Given the description of an element on the screen output the (x, y) to click on. 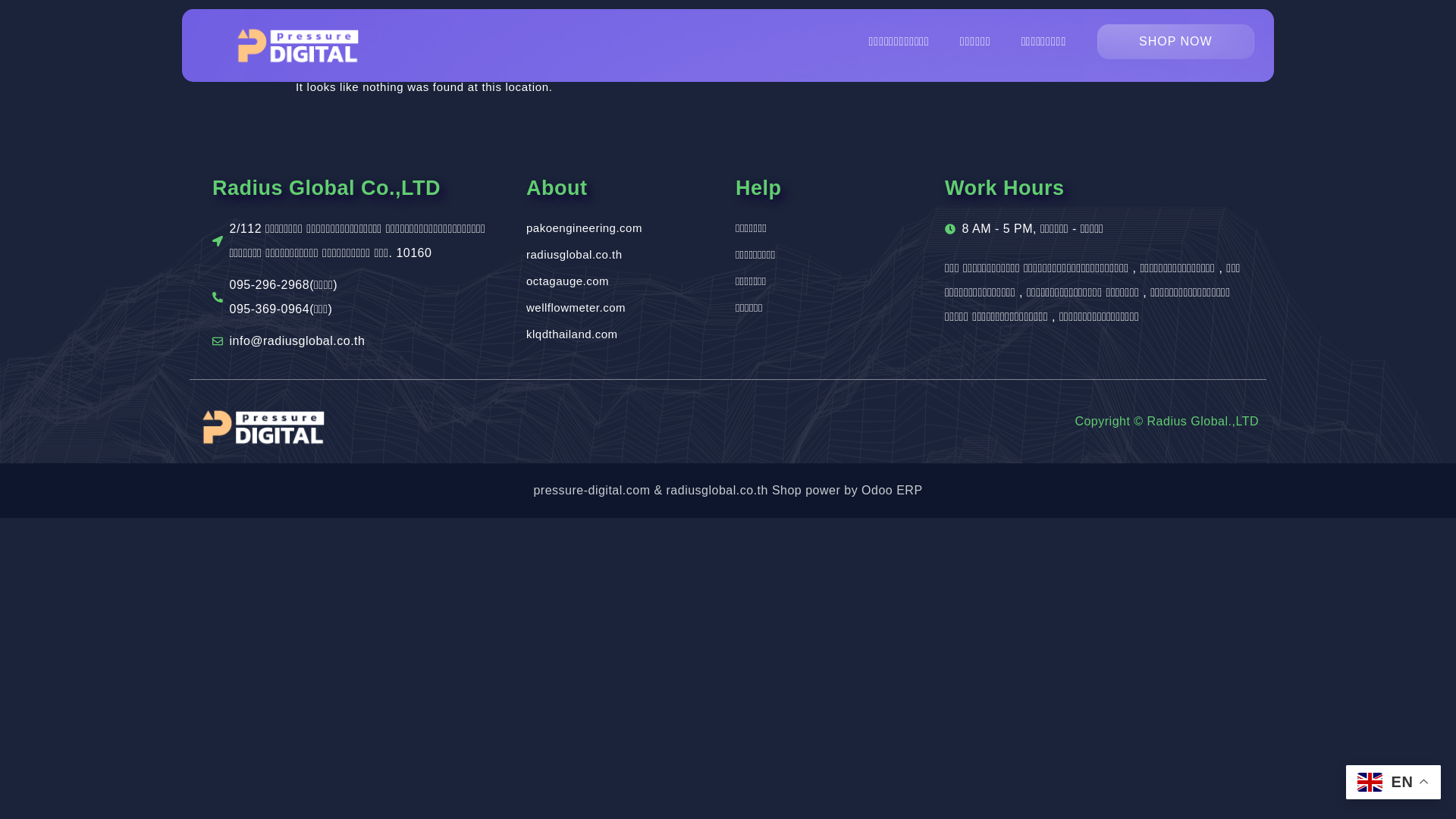
radiusglobal.co.th (622, 254)
klqdthailand.com (622, 333)
pakoengineering.com (622, 228)
octagauge.com (622, 281)
wellflowmeter.com (622, 307)
SHOP NOW (1175, 41)
